Given the description of an element on the screen output the (x, y) to click on. 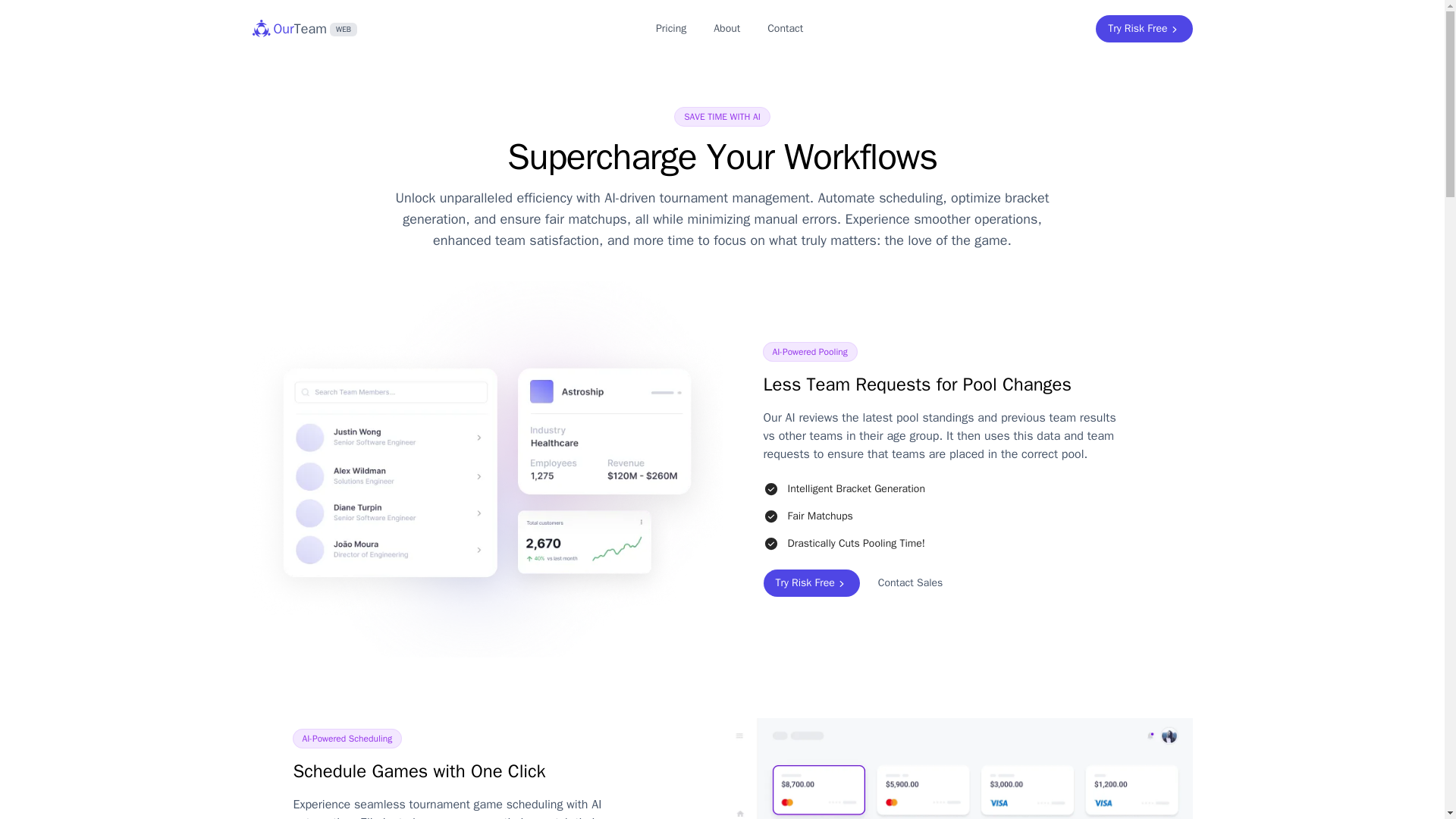
About (304, 28)
Contact Sales (726, 28)
Try Risk Free (910, 582)
Try Risk Free (810, 583)
Contact (1144, 28)
Pricing (785, 28)
